Given the description of an element on the screen output the (x, y) to click on. 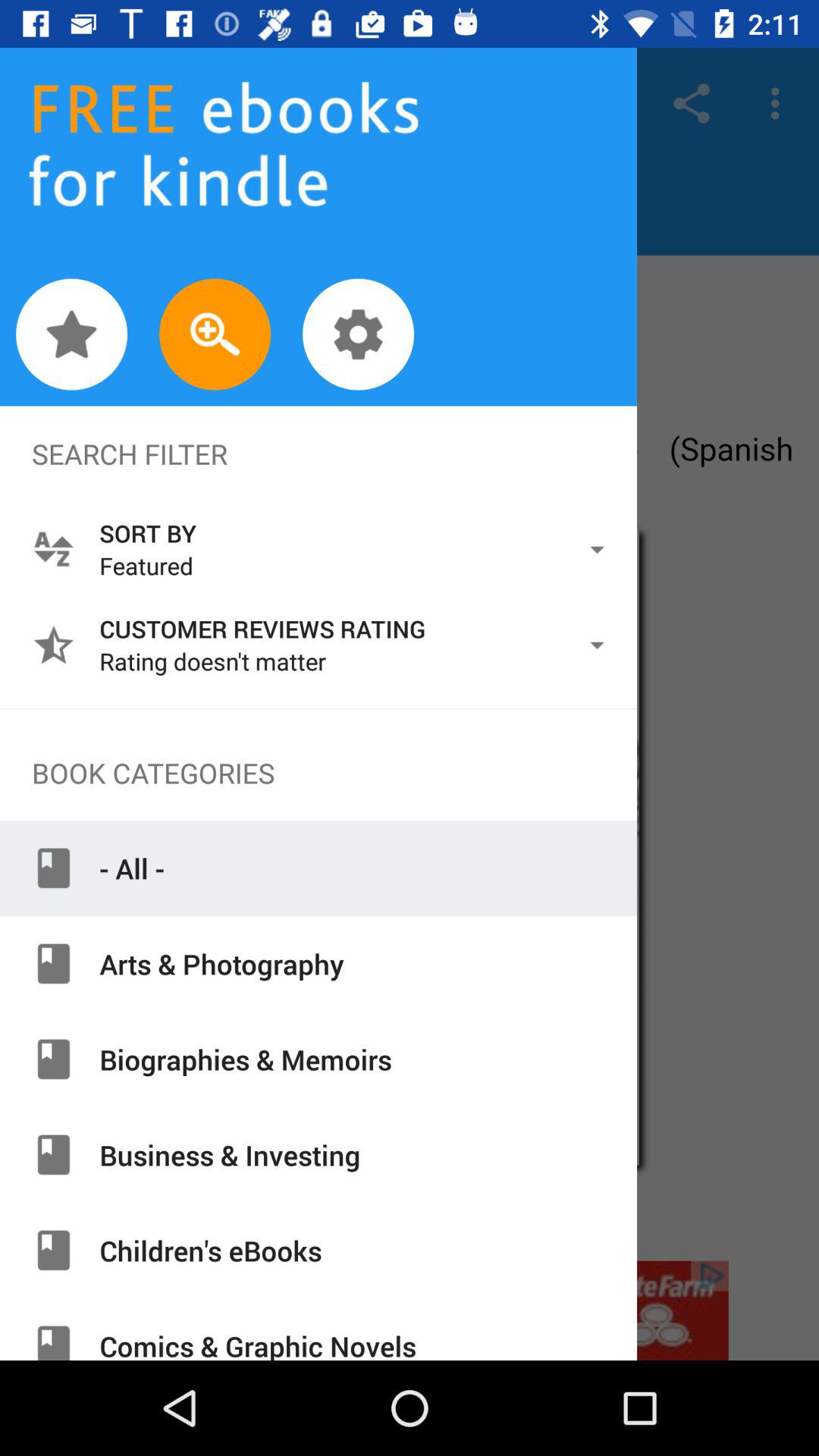
zoom option (214, 334)
